Given the description of an element on the screen output the (x, y) to click on. 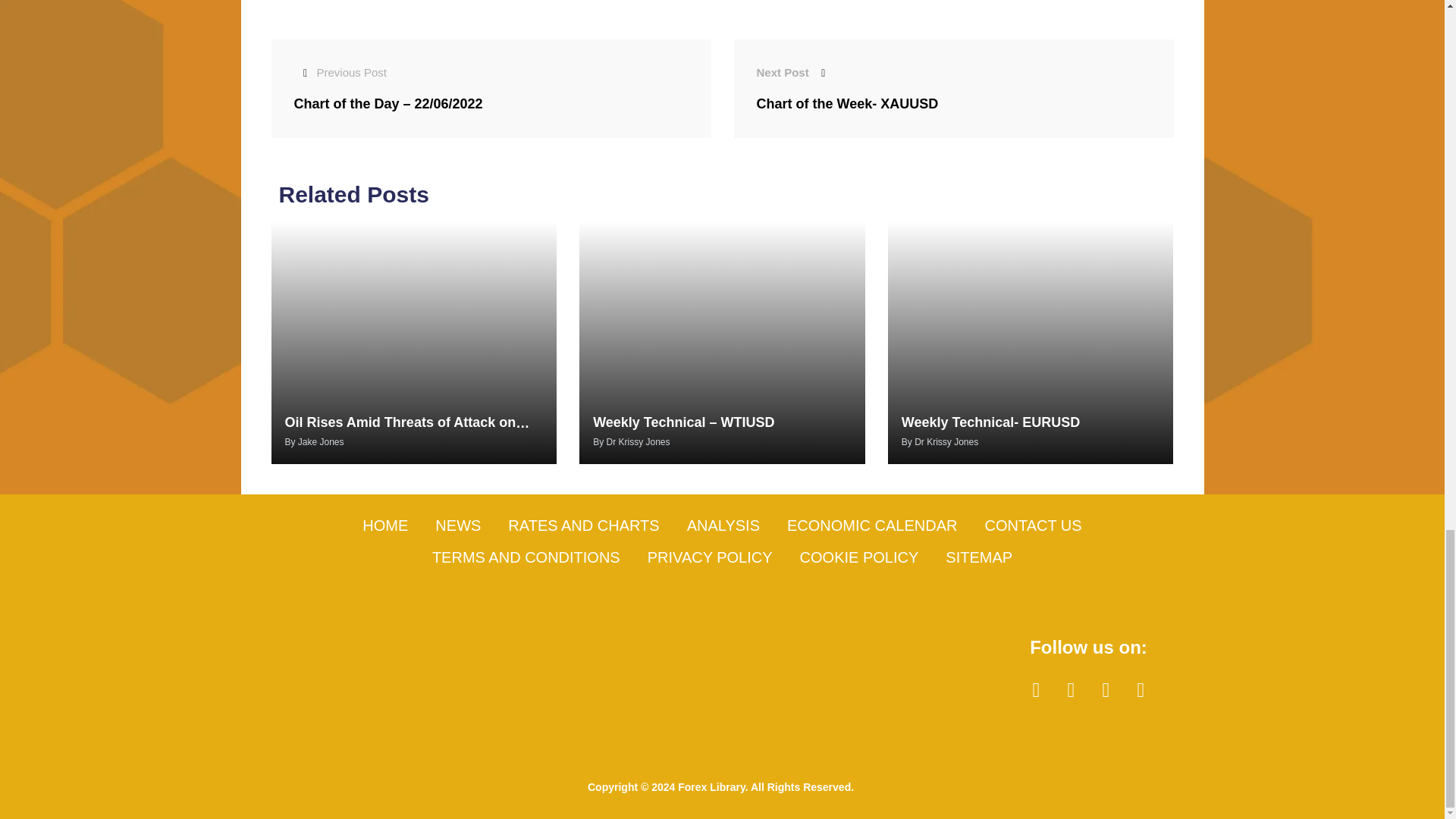
Weekly Technical- EURUSD (1030, 342)
Jake Jones (320, 441)
Previous Post (340, 72)
Chart of the Week- XAUUSD (848, 103)
Oil Rises Amid Threats of Attack on Israel (400, 433)
Next Post (795, 72)
Oil Rises Amid Threats of Attack on Israel (413, 342)
